Given the description of an element on the screen output the (x, y) to click on. 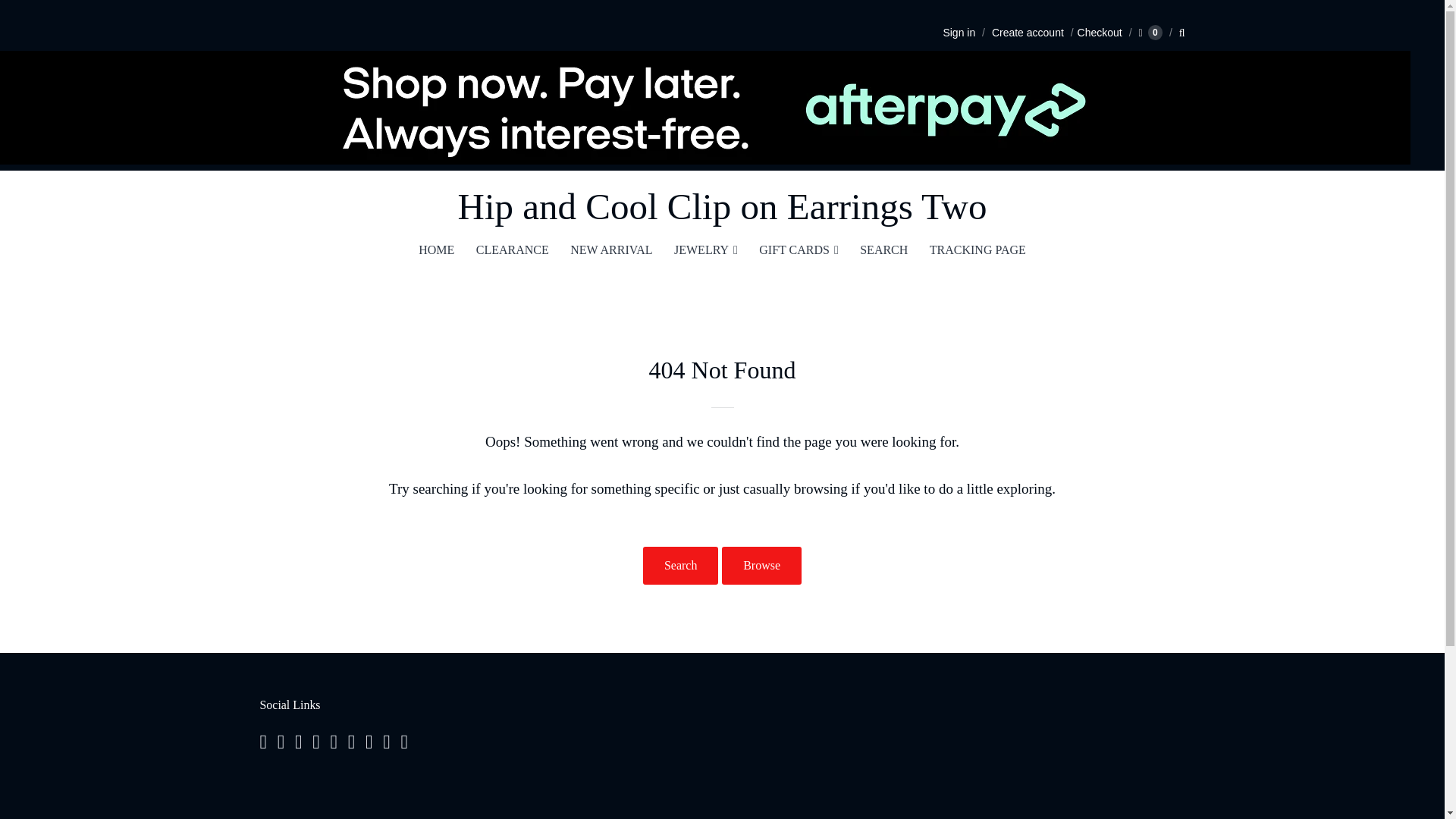
Sign in (958, 32)
Search (681, 565)
NEW ARRIVAL (610, 250)
Browse (762, 565)
Checkout (1094, 32)
TRACKING PAGE (977, 250)
SEARCH (883, 250)
0 (1149, 32)
Hip and Cool Clip on Earrings Two (722, 206)
JEWELRY (705, 250)
